Given the description of an element on the screen output the (x, y) to click on. 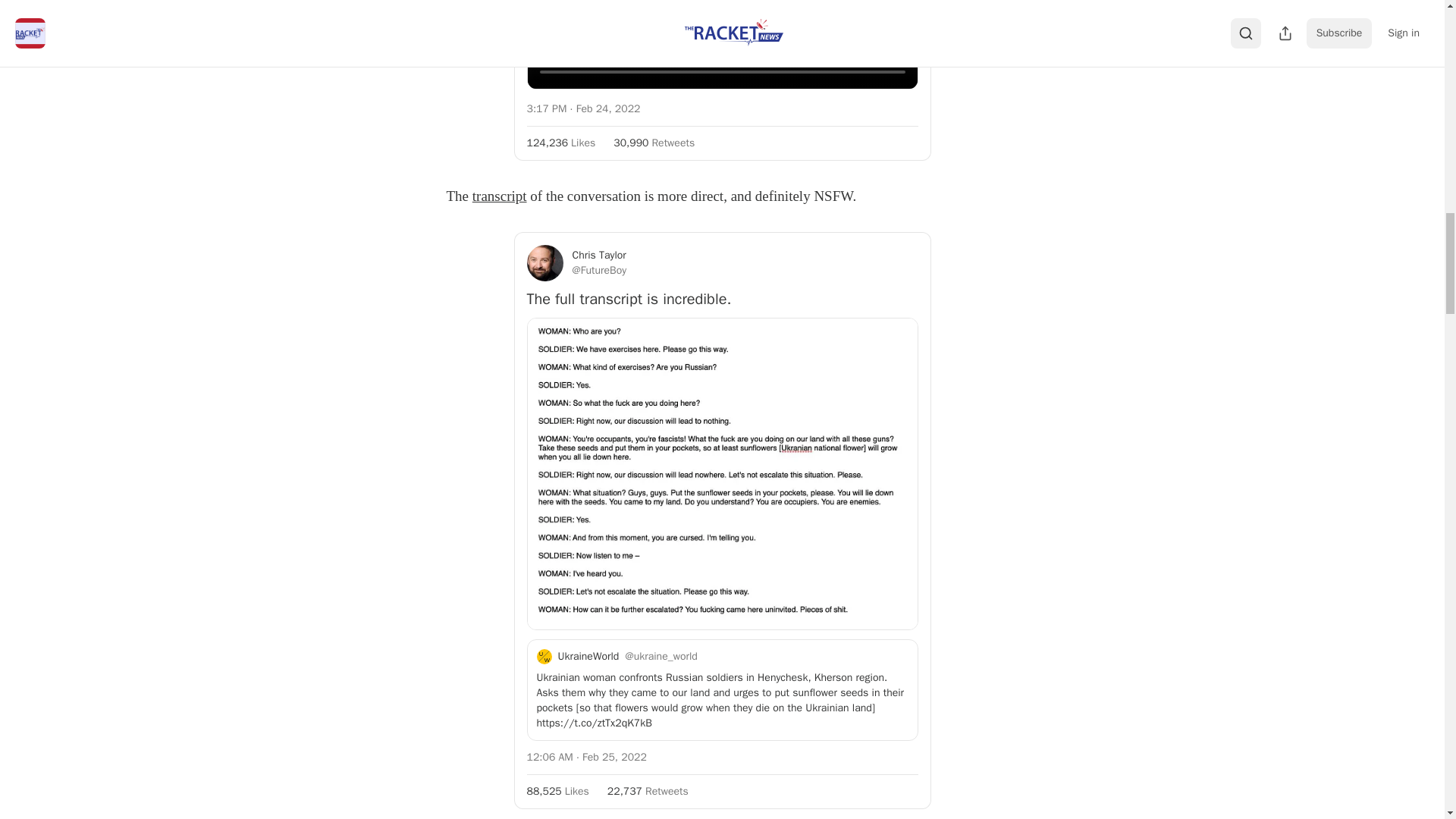
transcript (499, 195)
